Given the description of an element on the screen output the (x, y) to click on. 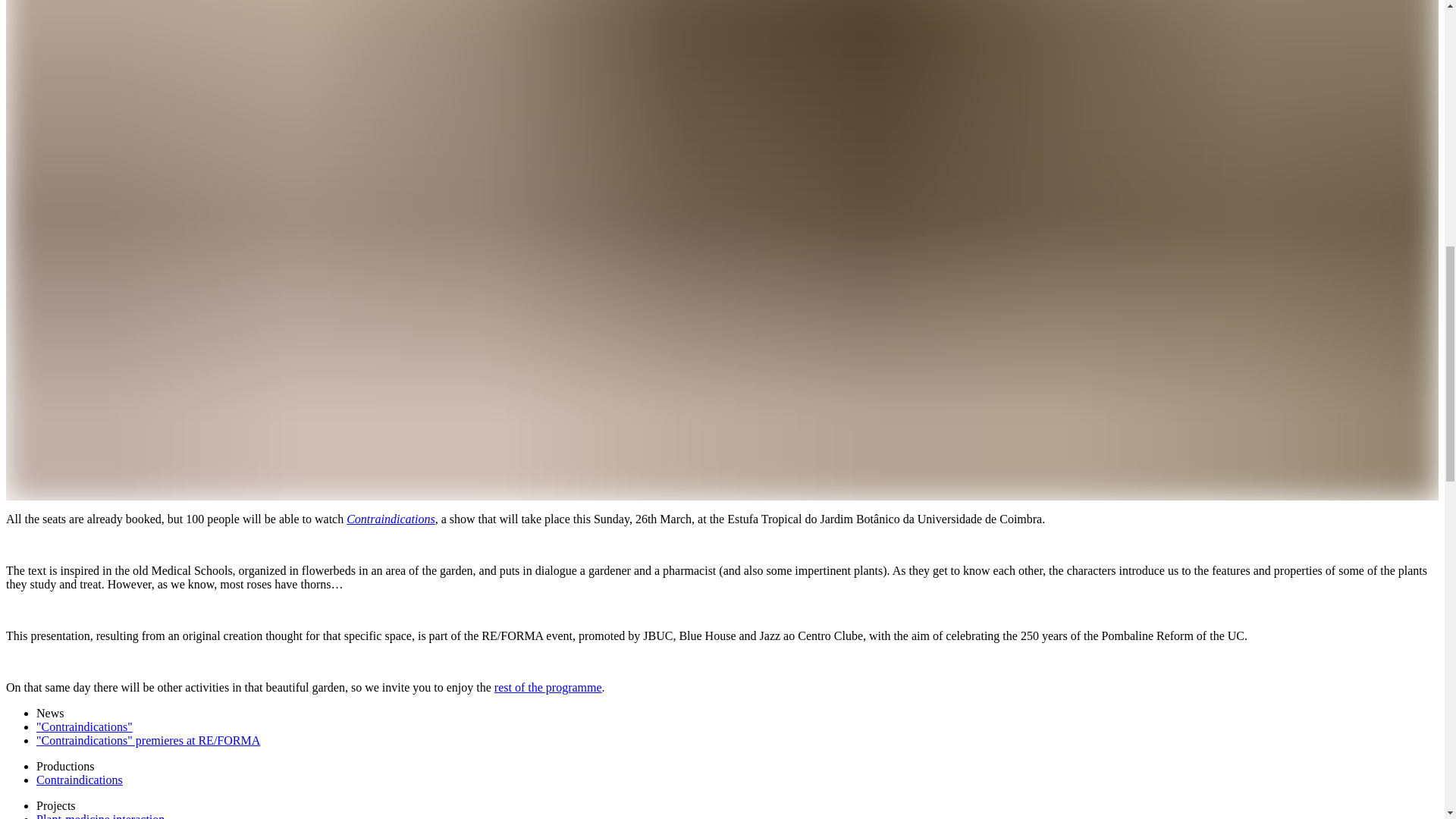
Plant-medicine interaction (100, 816)
"Contraindications" (84, 726)
Contraindications (79, 779)
rest of the programme (548, 686)
Contraindications (389, 518)
